Given the description of an element on the screen output the (x, y) to click on. 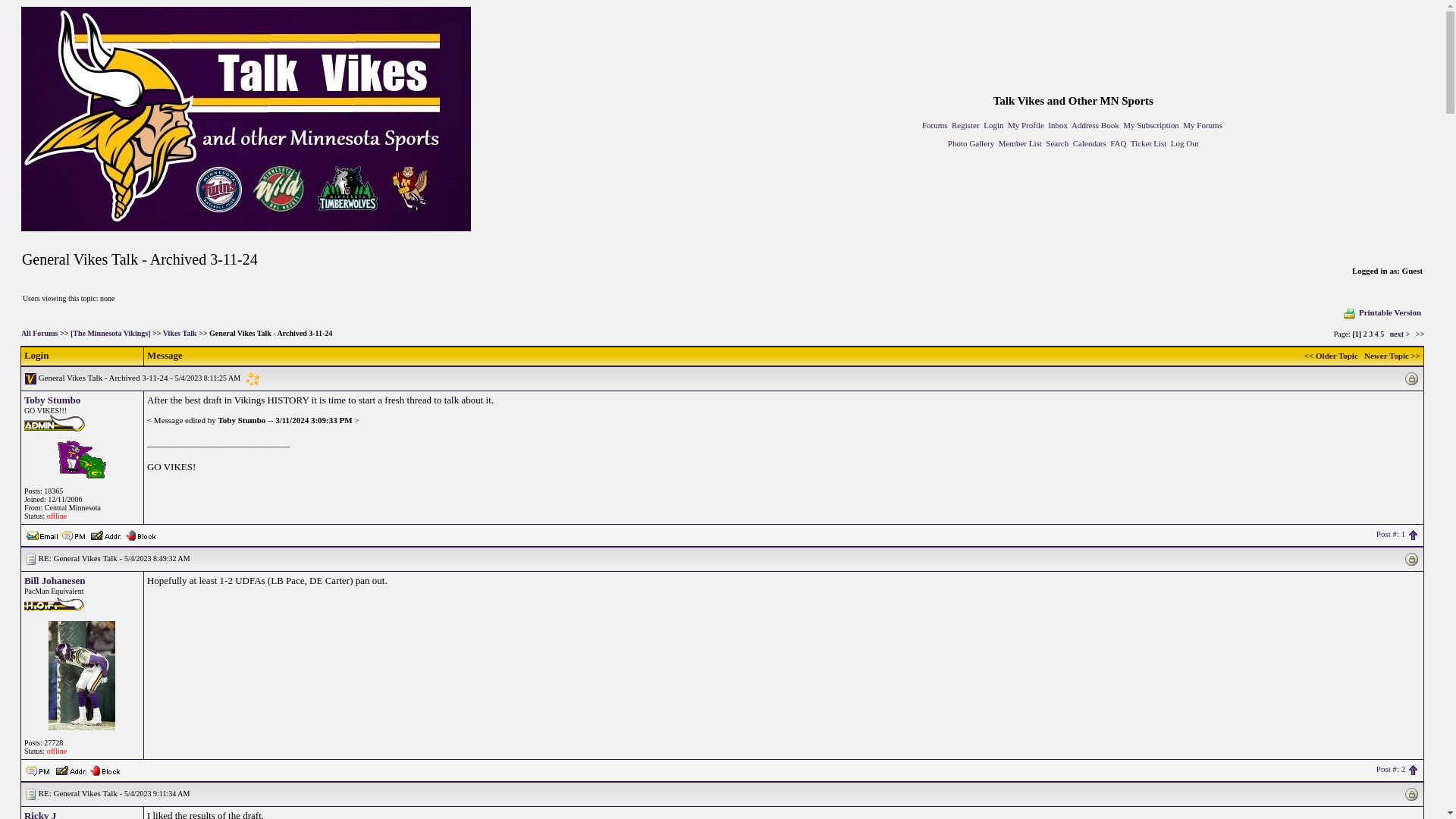
Add Member To Contact List (105, 533)
Block this guy and hide his messages (140, 533)
My Subscription (1150, 123)
Send Private Message (74, 535)
Printable Version (1381, 311)
Bill Johanesen (54, 580)
All Forums (39, 333)
Vikes Talk (179, 333)
Login (993, 123)
Block this guy and hide his messages (104, 768)
Address Book (1095, 123)
Log Out (1184, 142)
FAQ (1117, 142)
next (1400, 334)
My Forums (1202, 123)
